Given the description of an element on the screen output the (x, y) to click on. 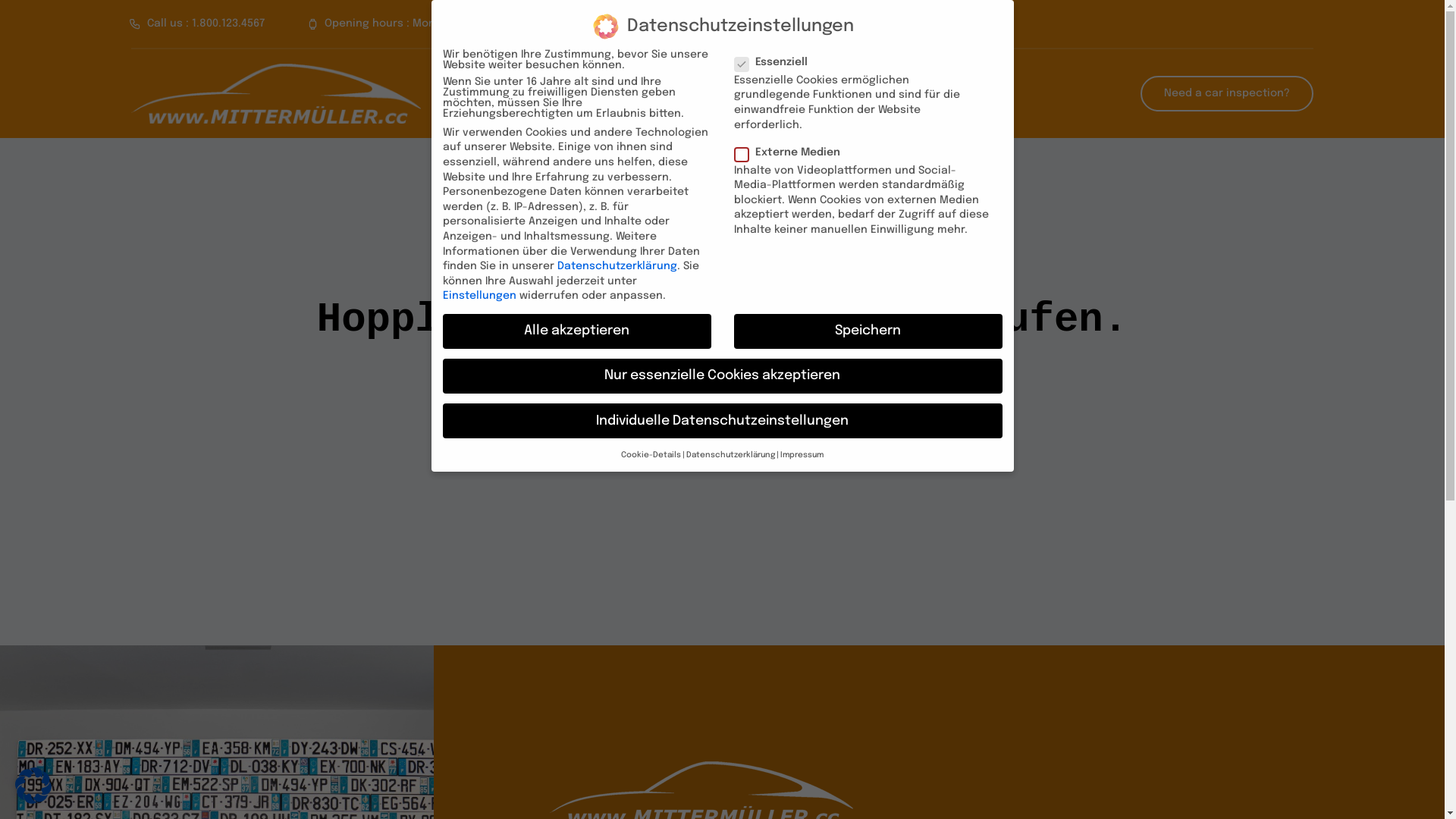
FAQ Element type: text (627, 75)
Unser Team Element type: text (539, 75)
Impressum Element type: text (801, 454)
Cookie-Details Element type: text (650, 454)
Opening hours : Mon-Fri 8h-15h Element type: text (400, 23)
Speichern Element type: text (868, 330)
Nur essenzielle Cookies akzeptieren Element type: text (722, 375)
Alle akzeptieren Element type: text (576, 330)
Individuelle Datenschutzeinstellungen Element type: text (722, 420)
Einstellungen Element type: text (479, 295)
Impressum Element type: text (900, 75)
Call us : 1.800.123.4567 Element type: text (197, 23)
Need a car inspection? Element type: text (1226, 93)
Werkstatt Element type: text (797, 75)
Verkauf Element type: text (703, 75)
